Given the description of an element on the screen output the (x, y) to click on. 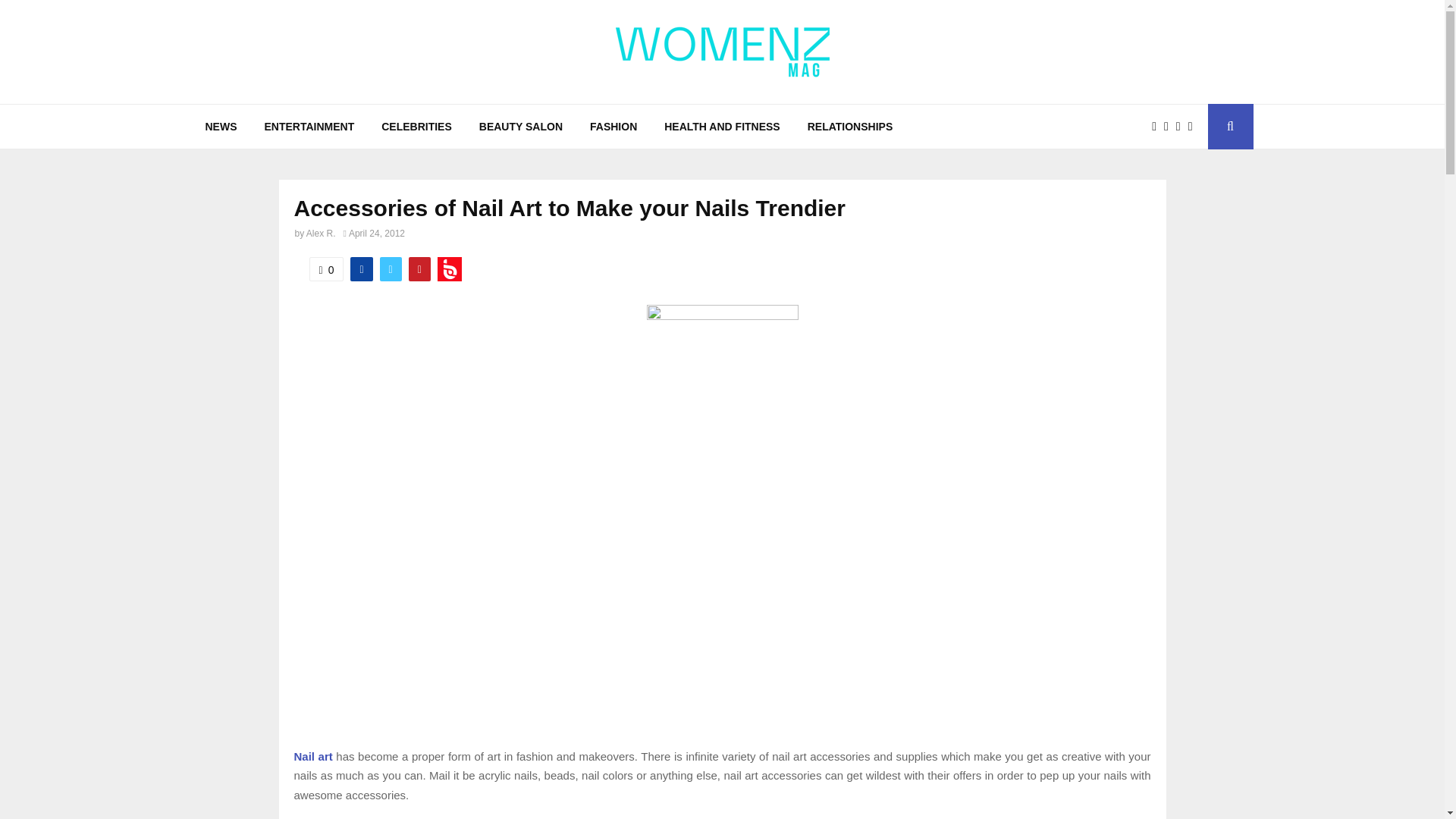
NEWS (220, 126)
Alex R. (320, 233)
FASHION (613, 126)
BEAUTY SALON (520, 126)
Like (325, 269)
ENTERTAINMENT (309, 126)
HEALTH AND FITNESS (721, 126)
Nail art (313, 755)
0 (325, 269)
